Given the description of an element on the screen output the (x, y) to click on. 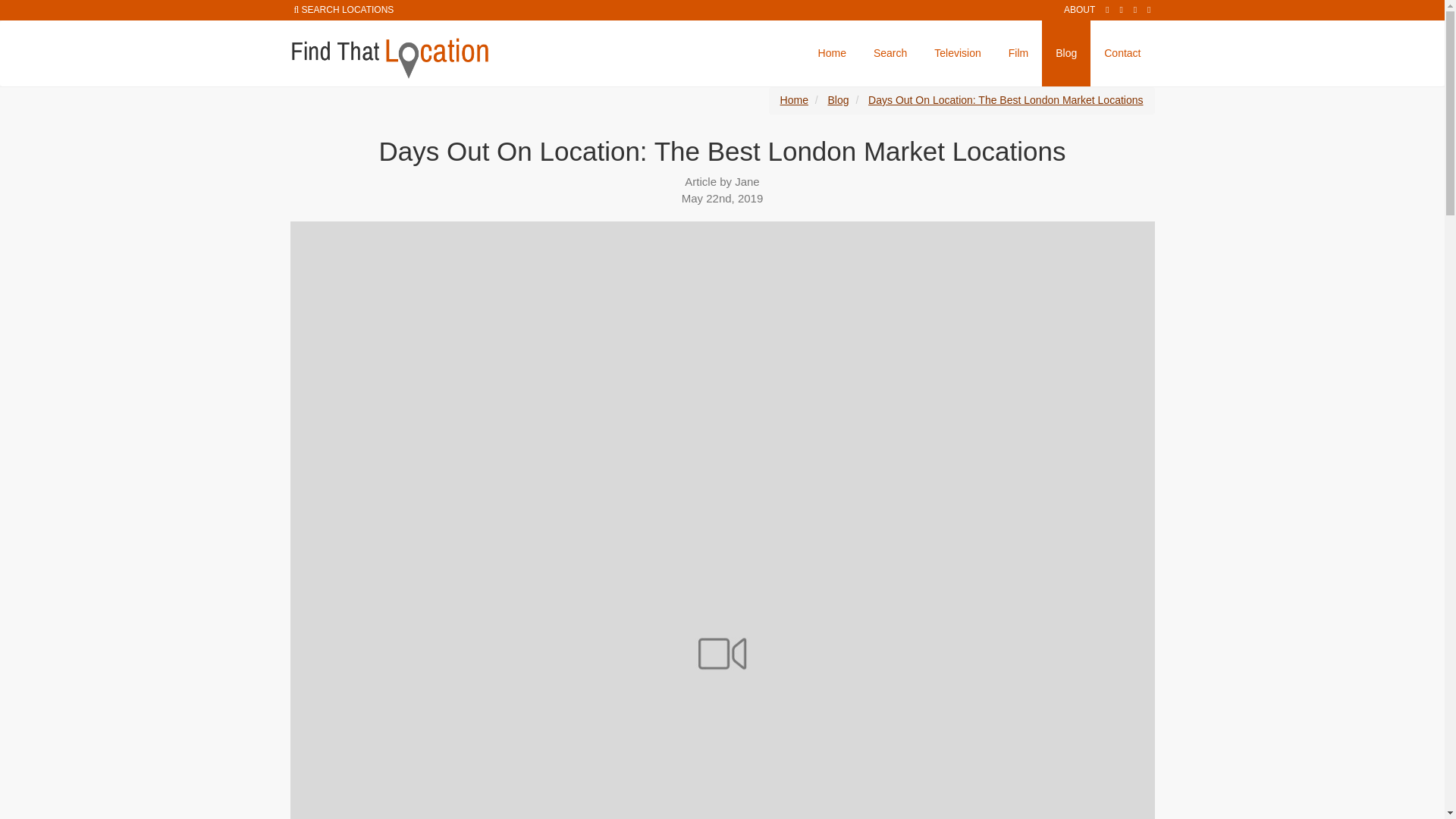
SEARCH LOCATIONS (347, 9)
Blog (838, 100)
Days Out On Location: The Best London Market Locations (1004, 100)
ABOUT (1079, 9)
Home (794, 100)
Television (957, 53)
Search (890, 53)
Contact (1122, 53)
